Given the description of an element on the screen output the (x, y) to click on. 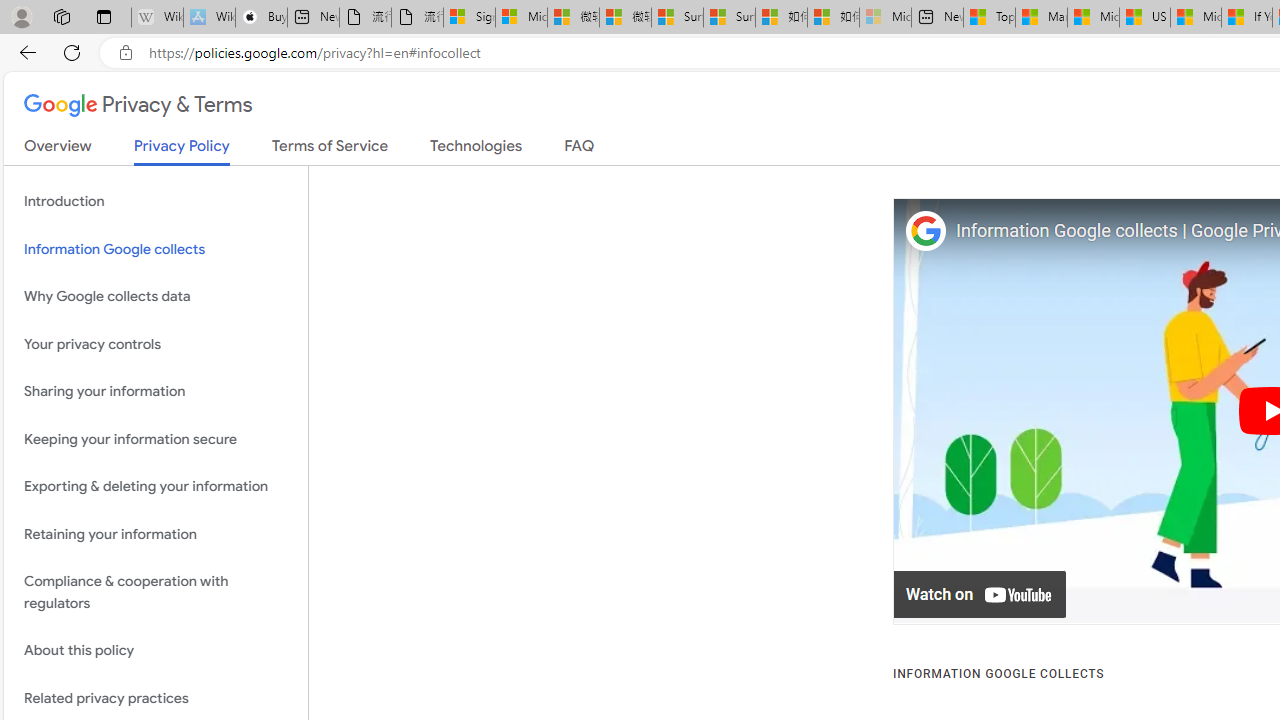
Wikipedia - Sleeping (157, 17)
Top Stories - MSN (989, 17)
Sign in to your Microsoft account (469, 17)
Marine life - MSN (1041, 17)
Microsoft account | Account Checkup - Sleeping (885, 17)
Microsoft Services Agreement (520, 17)
